Given the description of an element on the screen output the (x, y) to click on. 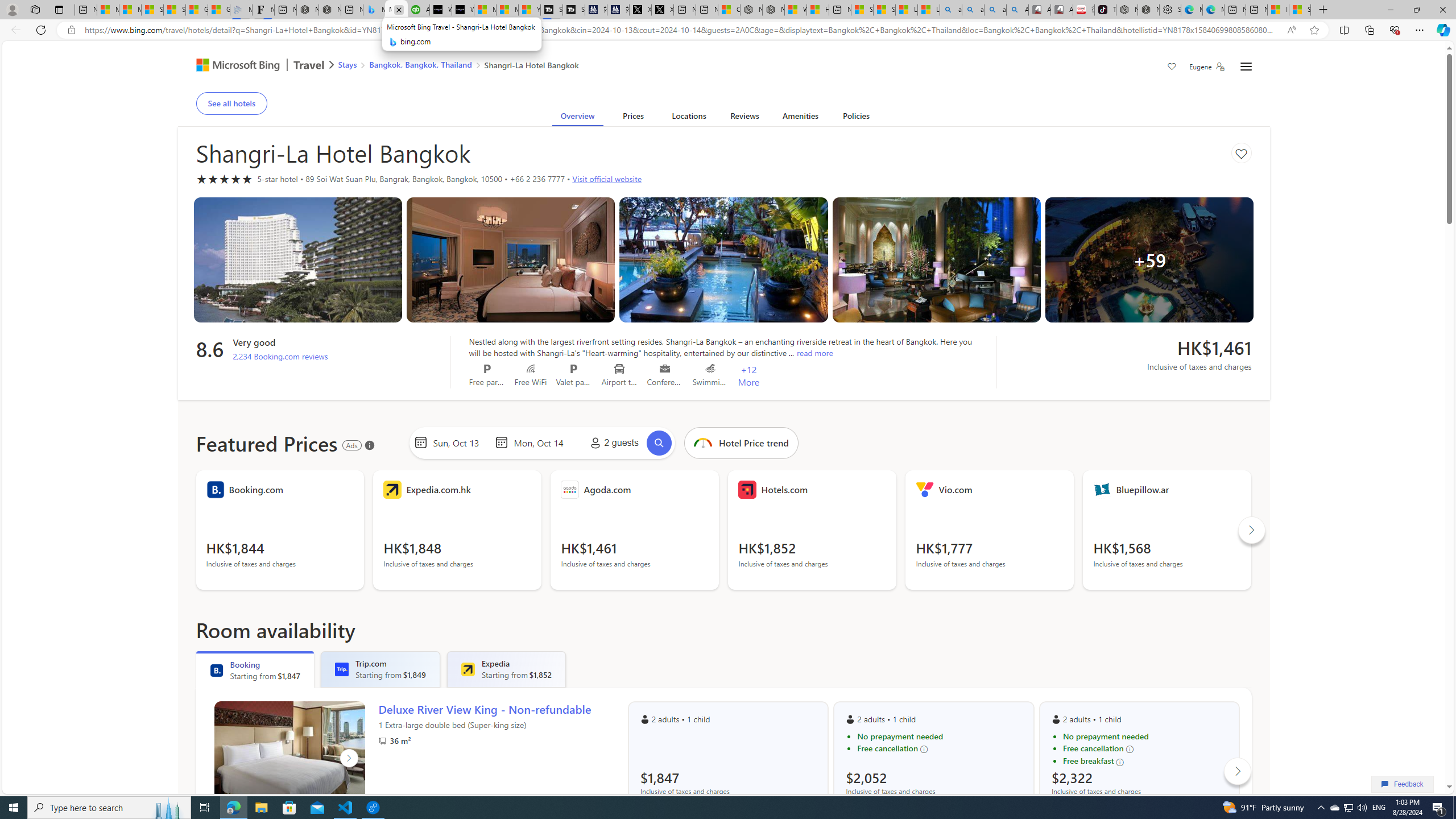
Save to collections (1241, 152)
Price Trend graph (740, 442)
Free WiFi (530, 368)
Split screen (1344, 29)
Expedia (467, 669)
Bangkok, Bangkok, Thailand (420, 64)
Amenities (800, 118)
Eugene (1206, 66)
TripDotCom (341, 669)
Conference rooms (665, 368)
+12 More Amenities (749, 375)
read more (814, 352)
